Given the description of an element on the screen output the (x, y) to click on. 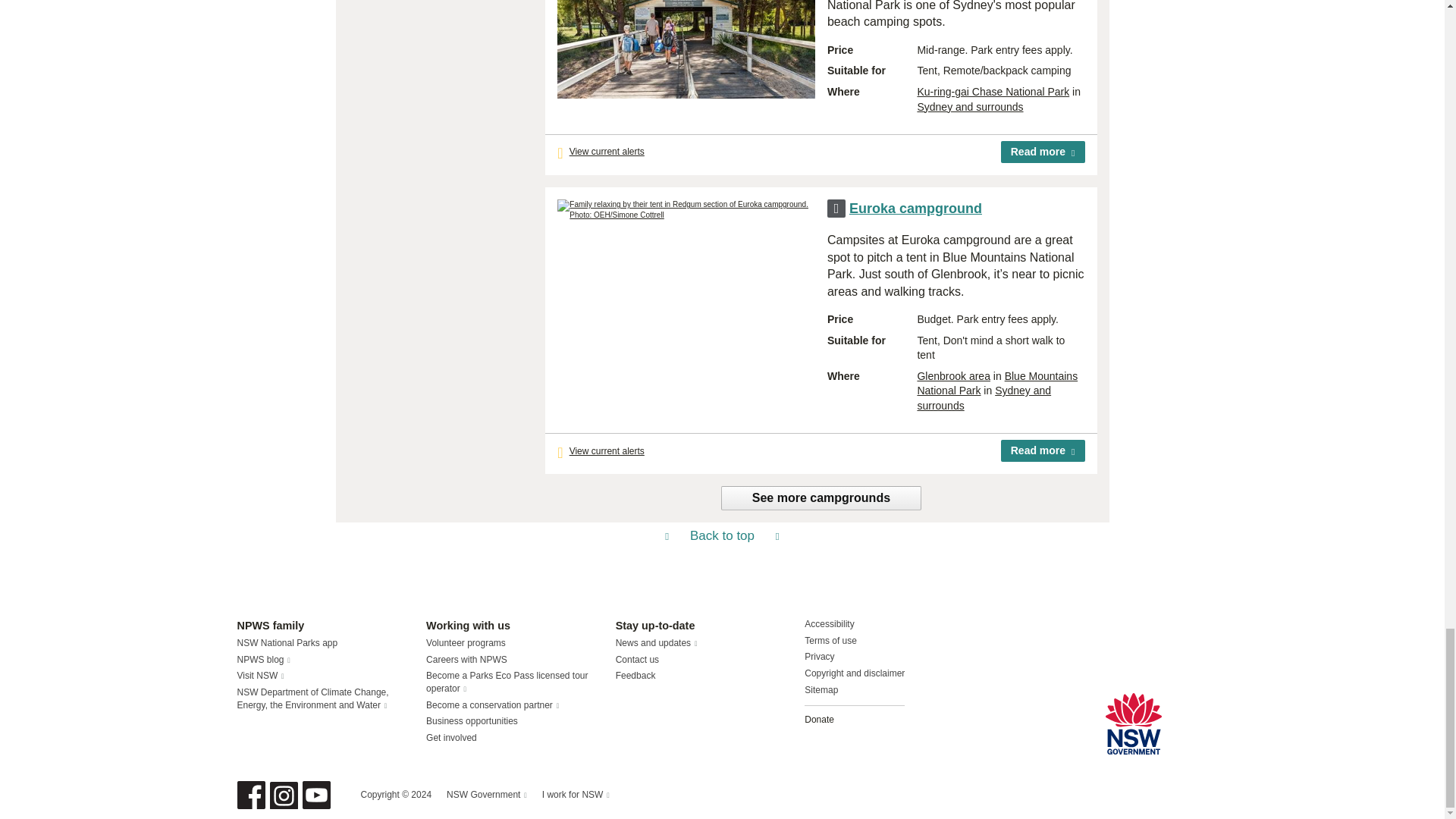
Visit NSW National Parks on Youtube (315, 795)
Visit NSW National Parks on Facebook (249, 795)
New South Wales Government (1133, 723)
Visit NSW National Parks on Instagram (283, 795)
